Given the description of an element on the screen output the (x, y) to click on. 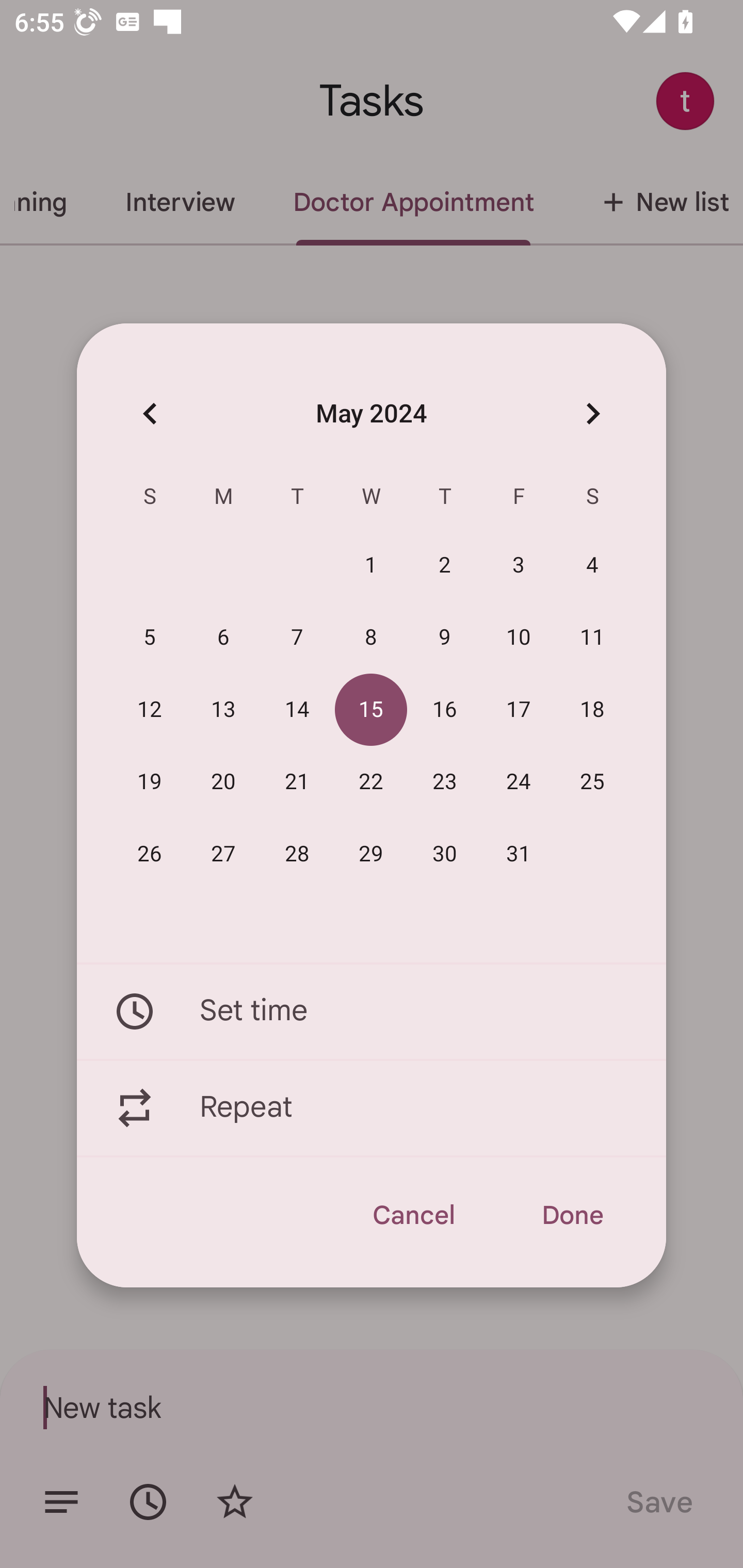
Previous month (149, 413)
Next month (592, 413)
1 01 May 2024 (370, 565)
2 02 May 2024 (444, 565)
3 03 May 2024 (518, 565)
4 04 May 2024 (592, 565)
5 05 May 2024 (149, 638)
6 06 May 2024 (223, 638)
7 07 May 2024 (297, 638)
8 08 May 2024 (370, 638)
9 09 May 2024 (444, 638)
10 10 May 2024 (518, 638)
11 11 May 2024 (592, 638)
12 12 May 2024 (149, 710)
13 13 May 2024 (223, 710)
14 14 May 2024 (297, 710)
15 15 May 2024 (370, 710)
16 16 May 2024 (444, 710)
17 17 May 2024 (518, 710)
18 18 May 2024 (592, 710)
19 19 May 2024 (149, 782)
20 20 May 2024 (223, 782)
21 21 May 2024 (297, 782)
22 22 May 2024 (370, 782)
23 23 May 2024 (444, 782)
24 24 May 2024 (518, 782)
25 25 May 2024 (592, 782)
26 26 May 2024 (149, 854)
27 27 May 2024 (223, 854)
28 28 May 2024 (297, 854)
29 29 May 2024 (370, 854)
30 30 May 2024 (444, 854)
31 31 May 2024 (518, 854)
Set time (371, 1011)
Repeat (371, 1108)
Cancel (412, 1215)
Done (571, 1215)
